Given the description of an element on the screen output the (x, y) to click on. 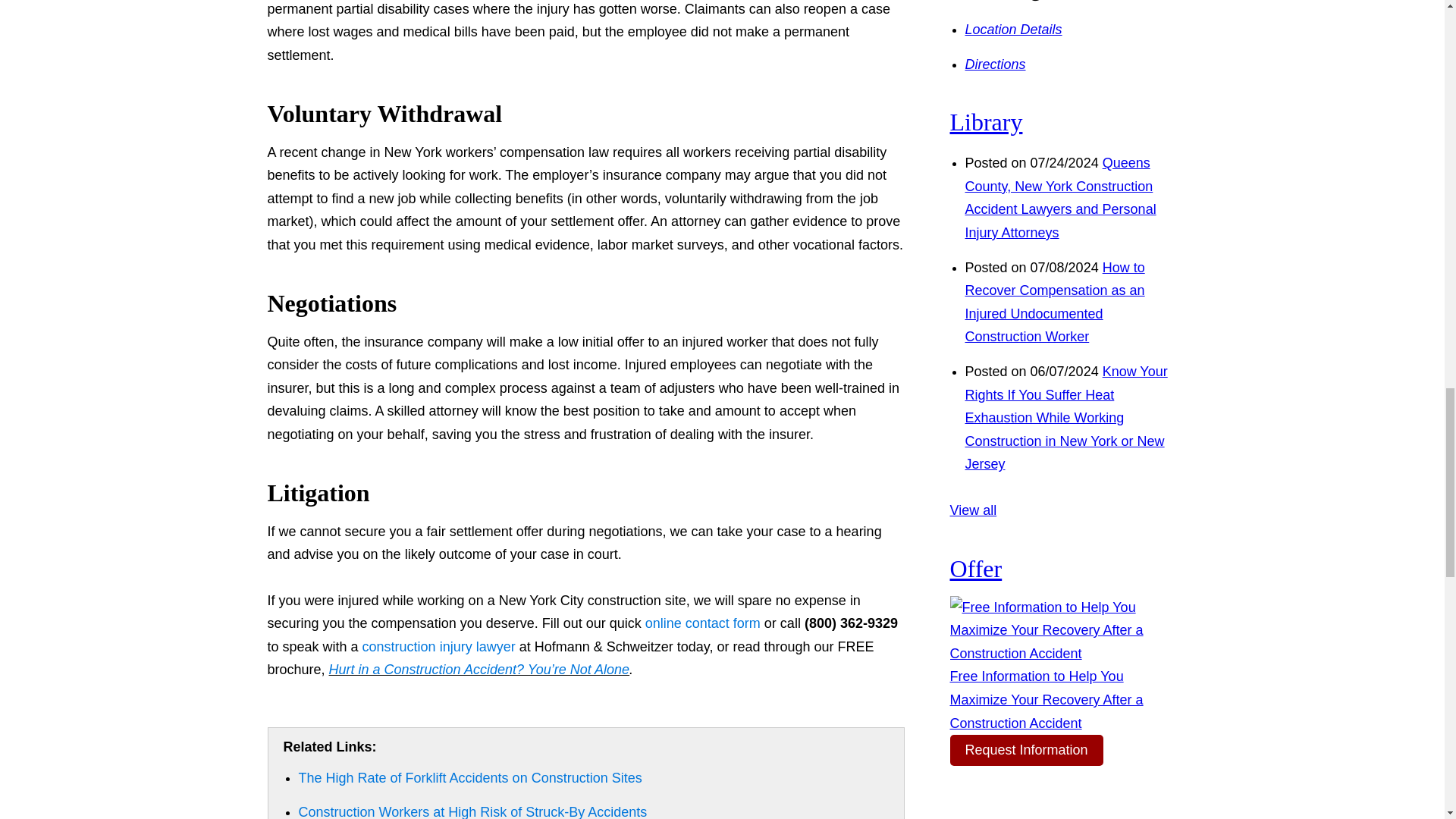
Construction Workers at High Risk of Struck-By Accidents (472, 811)
online contact form (702, 622)
The High Rate of Forklift Accidents on Construction Sites (470, 777)
construction injury lawyer (438, 646)
